Given the description of an element on the screen output the (x, y) to click on. 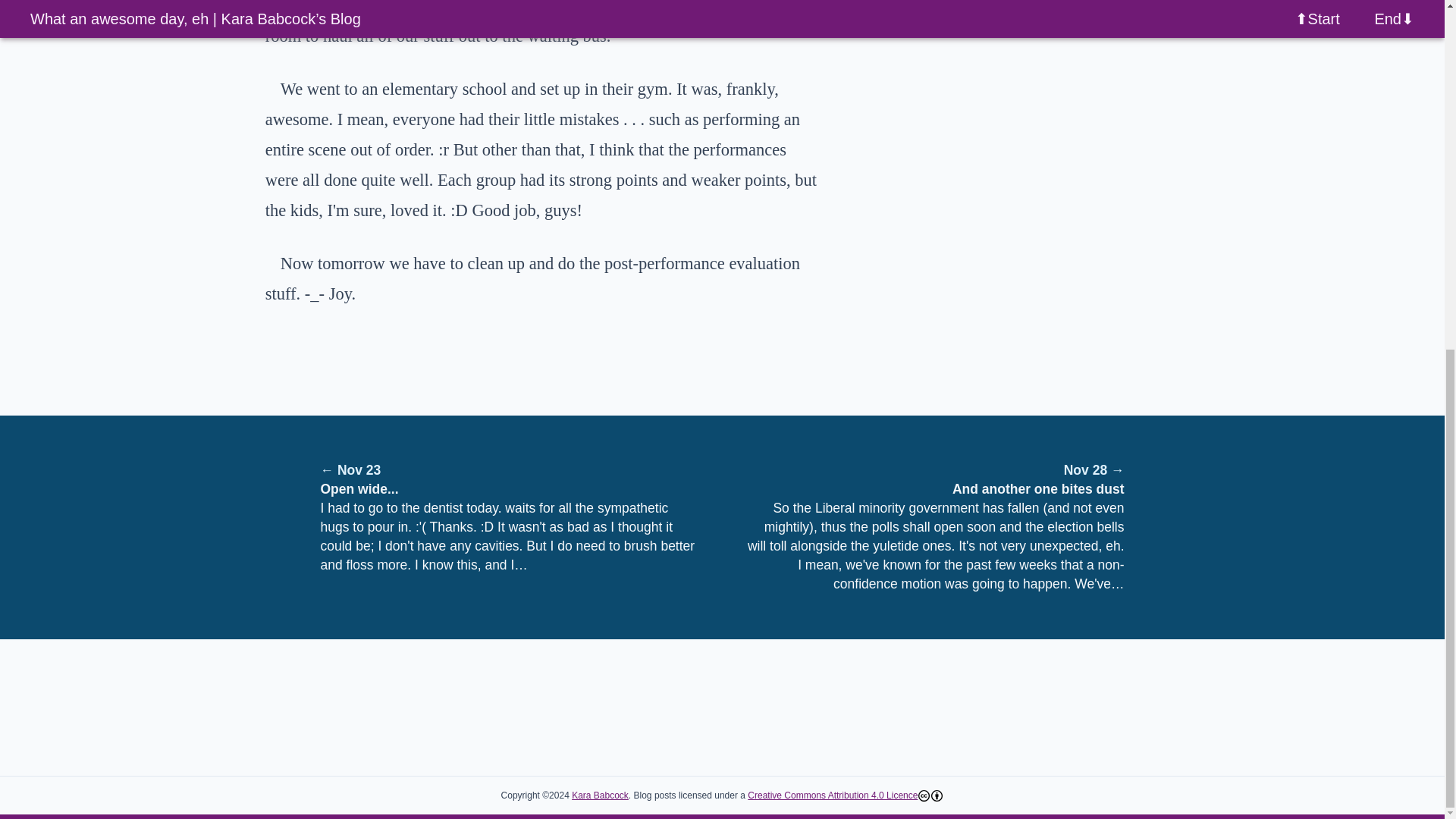
Creative Commons Attribution 4.0 Licence (832, 795)
Kara Babcock (600, 795)
